Given the description of an element on the screen output the (x, y) to click on. 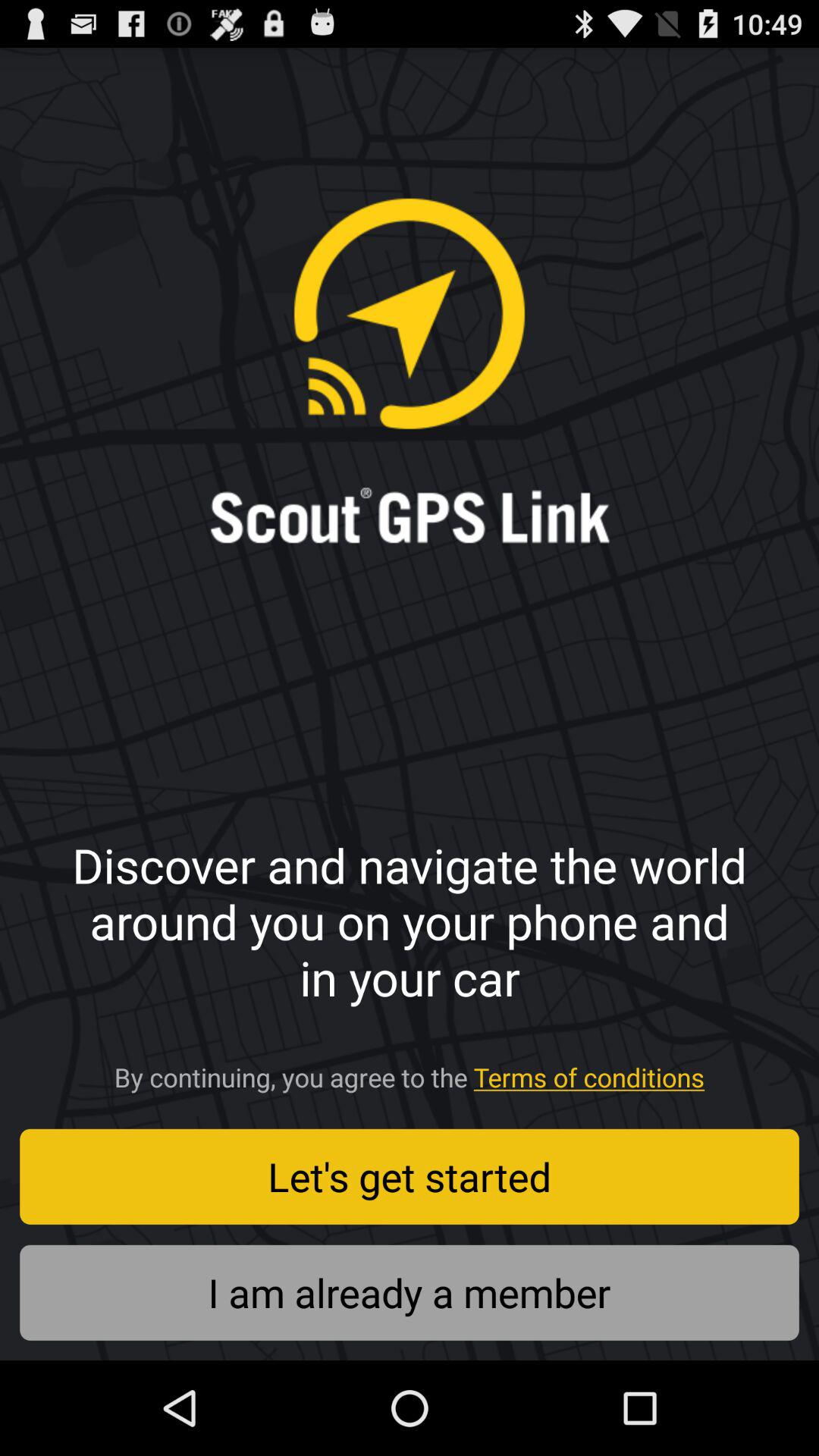
select the item above the discover and navigate icon (69, 117)
